Given the description of an element on the screen output the (x, y) to click on. 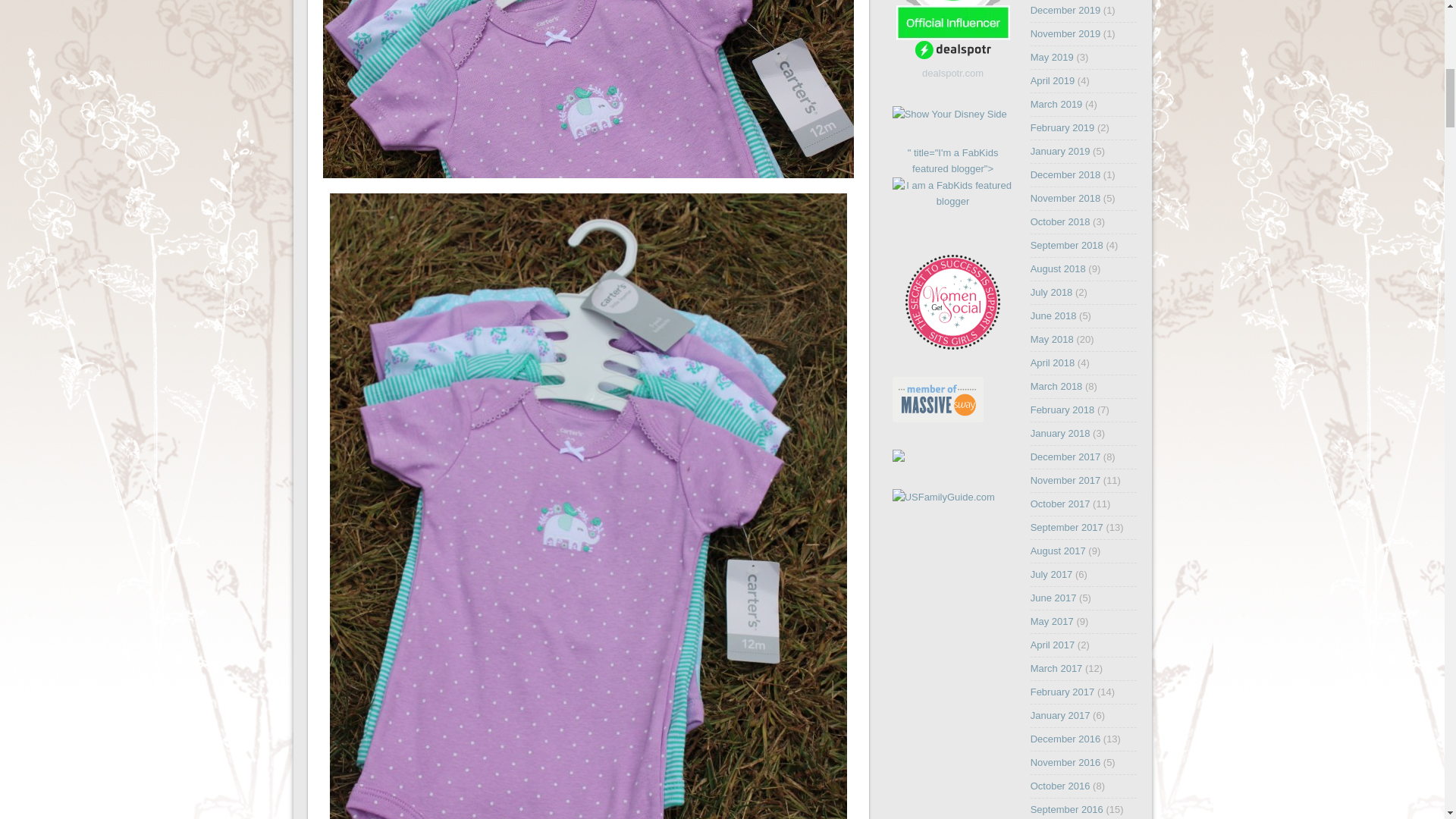
I am a FabKids featured blogger (952, 193)
I Have Massive Sway (938, 419)
